Given the description of an element on the screen output the (x, y) to click on. 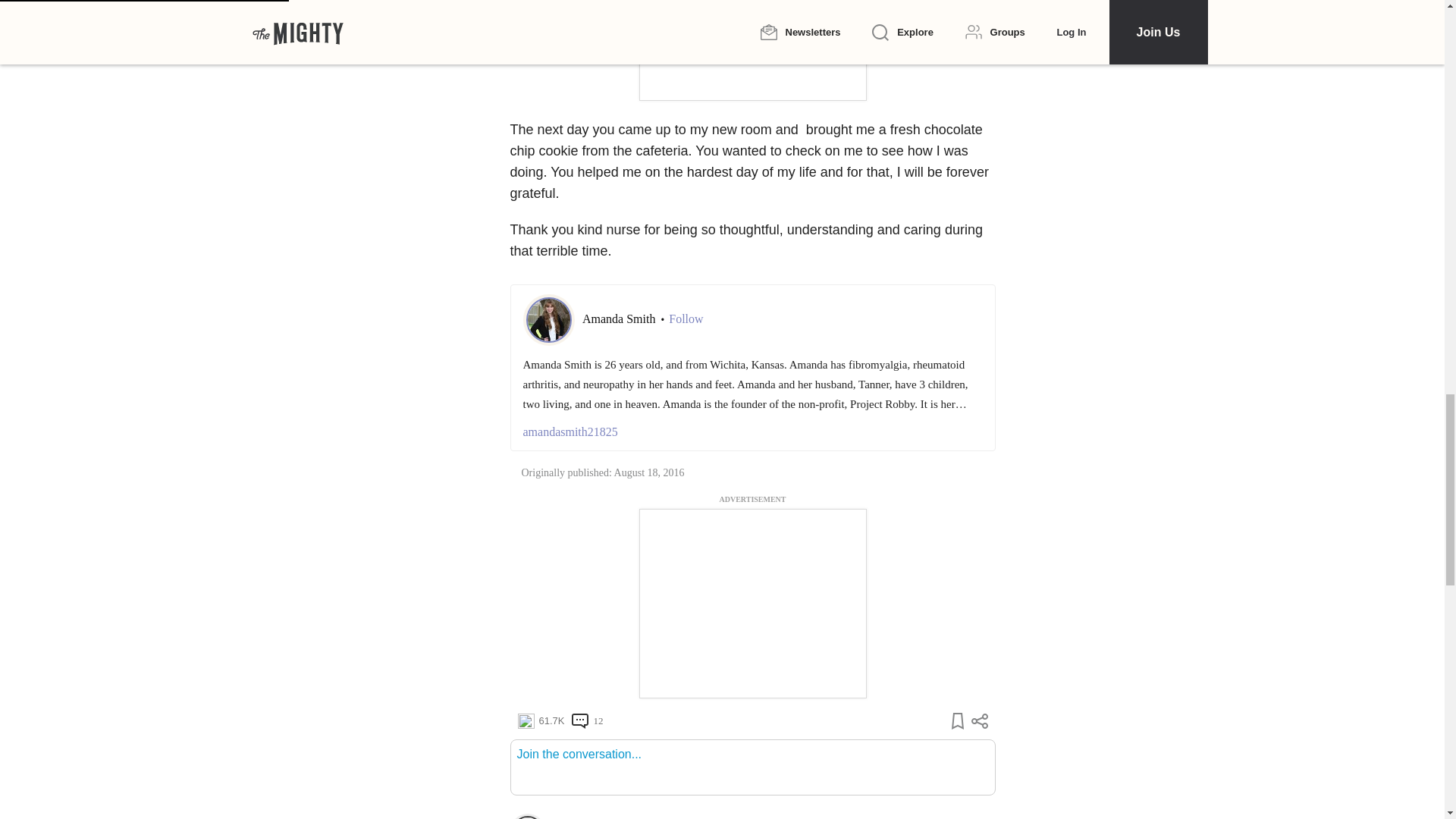
Amanda Smith (620, 318)
amandasmith21825 (752, 432)
Follow (685, 319)
View their profile (526, 816)
61.7K (540, 720)
